Given the description of an element on the screen output the (x, y) to click on. 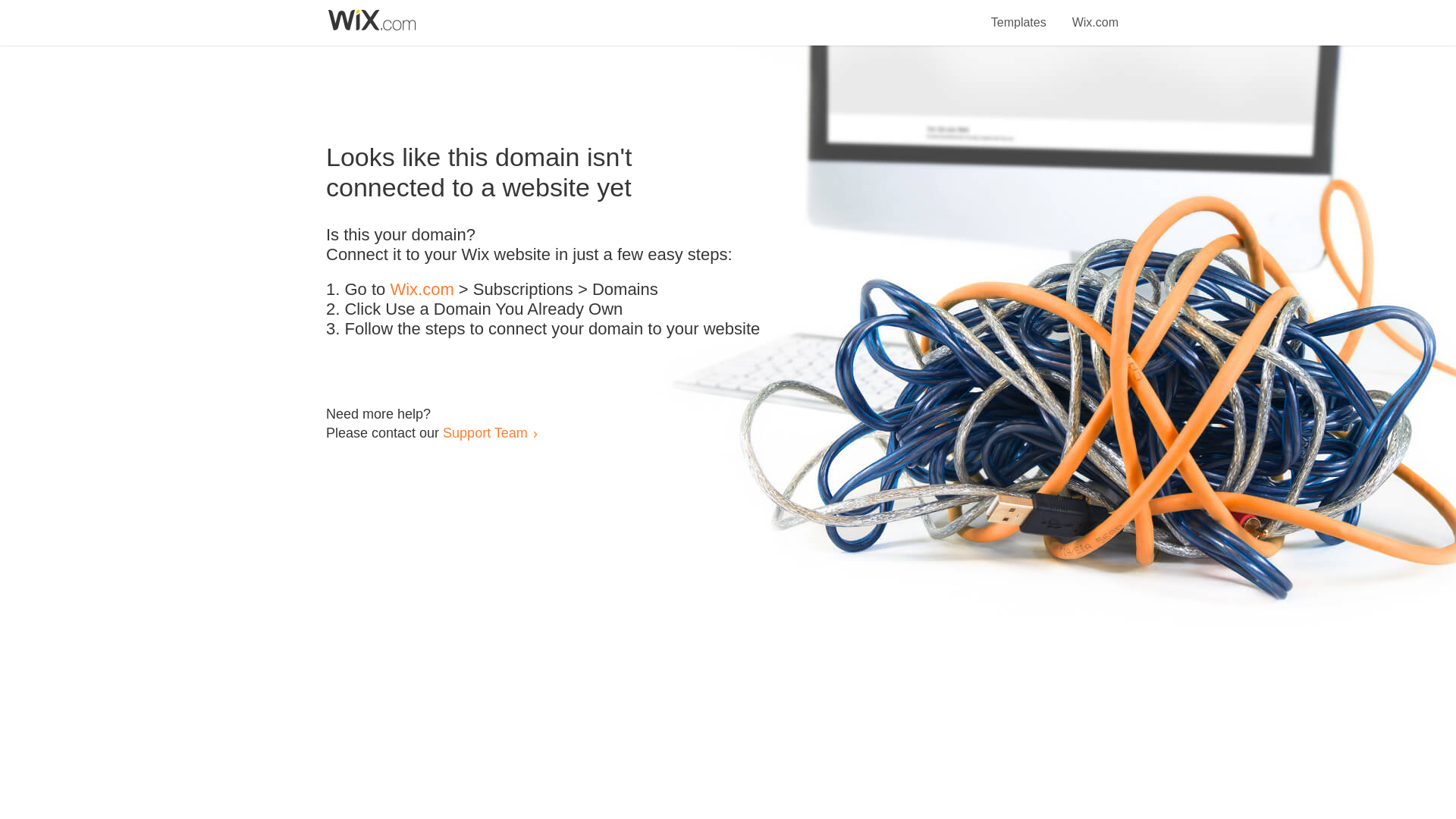
Wix.com (421, 289)
Support Team (484, 432)
Wix.com (1095, 14)
Templates (1018, 14)
